Given the description of an element on the screen output the (x, y) to click on. 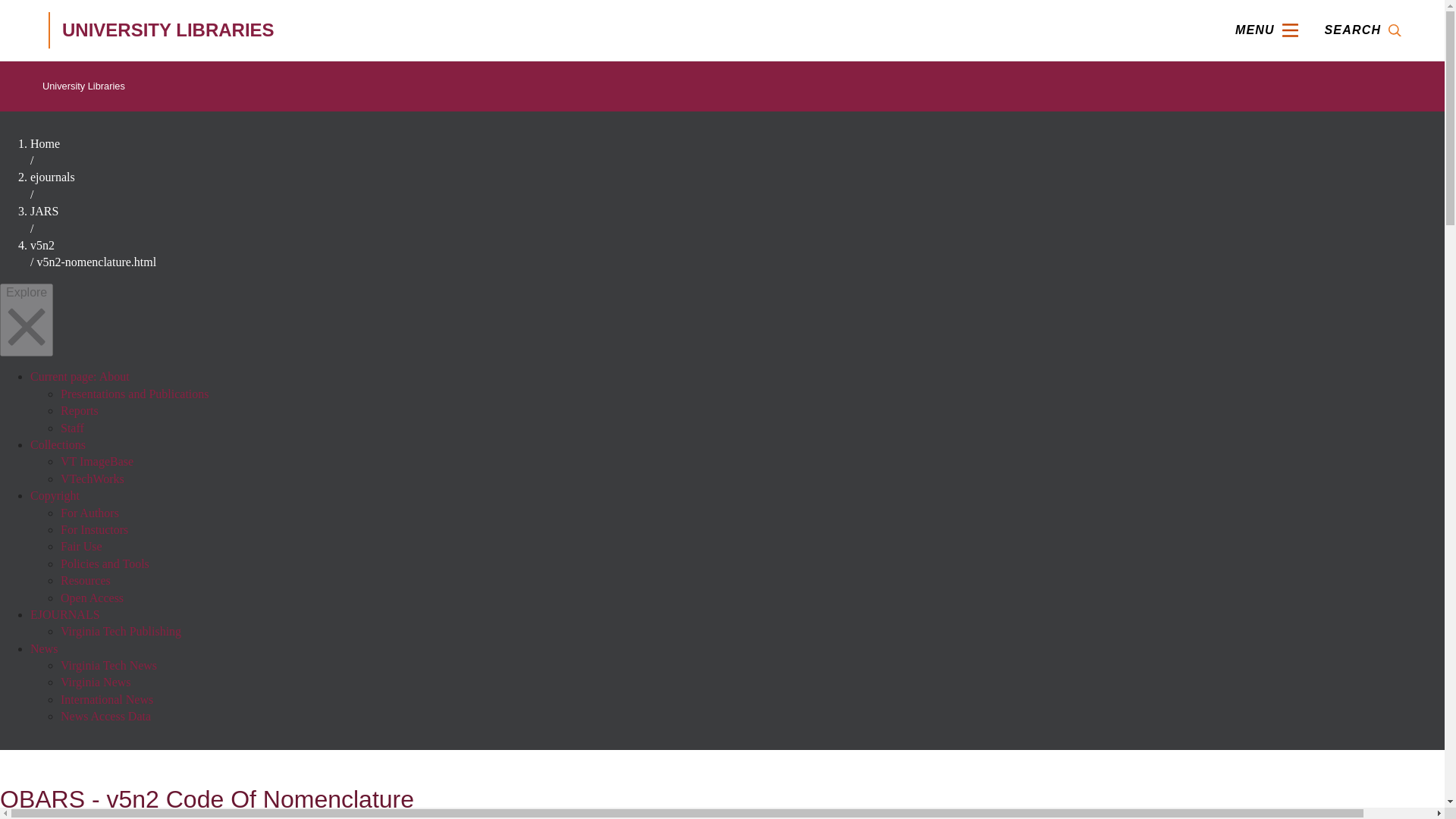
Current page: About (79, 376)
ejournals (52, 176)
SEARCH (1361, 30)
University Libraries (83, 86)
Home (44, 143)
UNIVERSITY LIBRARIES (265, 29)
MENU (1266, 30)
v5n2 (42, 245)
JARS (44, 210)
